Given the description of an element on the screen output the (x, y) to click on. 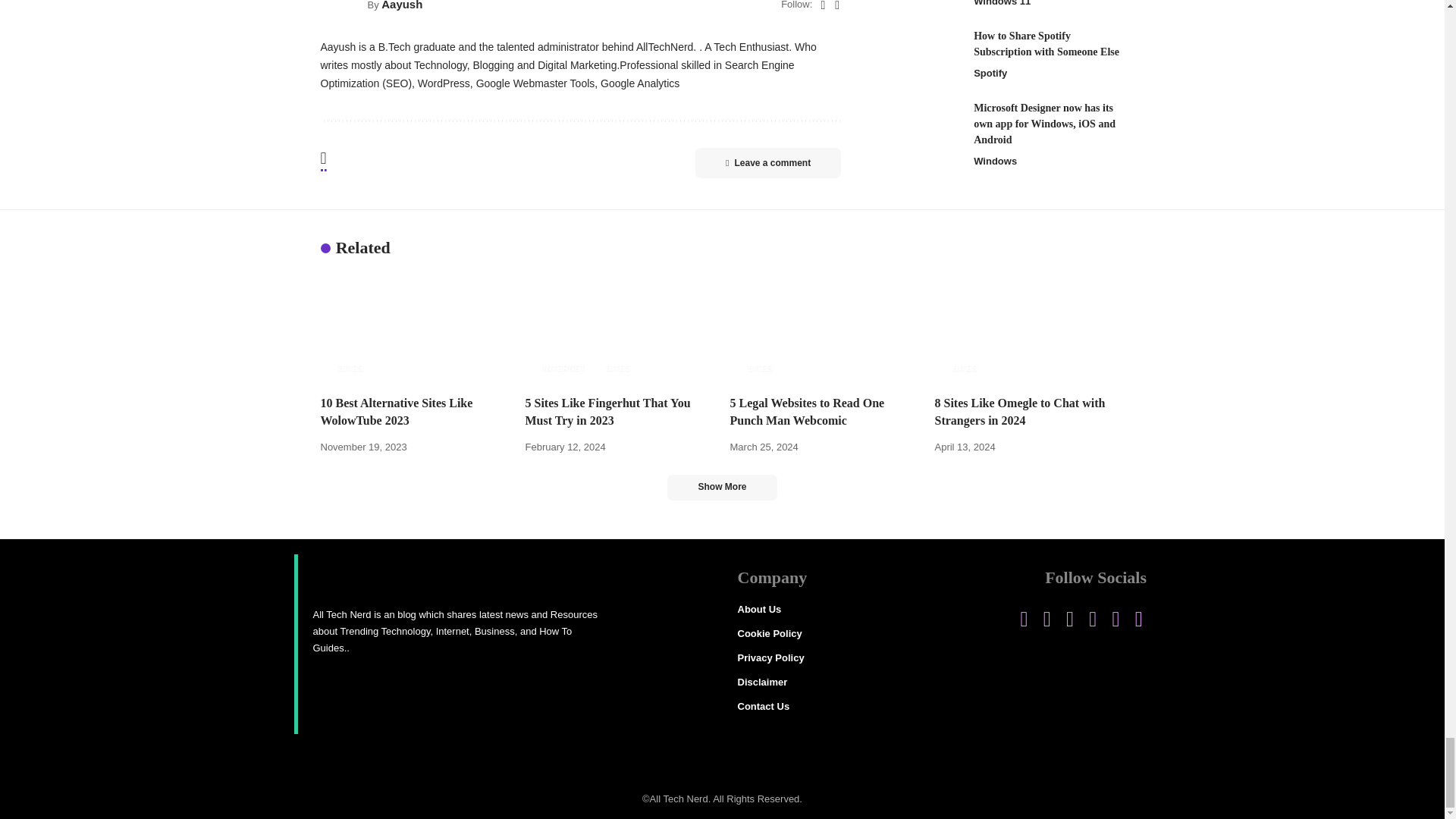
5 Legal Websites to Read One Punch Man Webcomic (823, 327)
8 Sites Like Omegle to Chat with Strangers in 2024 (1029, 327)
5 Sites Like Fingerhut That You Must Try in 2023 (619, 327)
10 Best Alternative Sites Like WolowTube 2023 (414, 327)
